Given the description of an element on the screen output the (x, y) to click on. 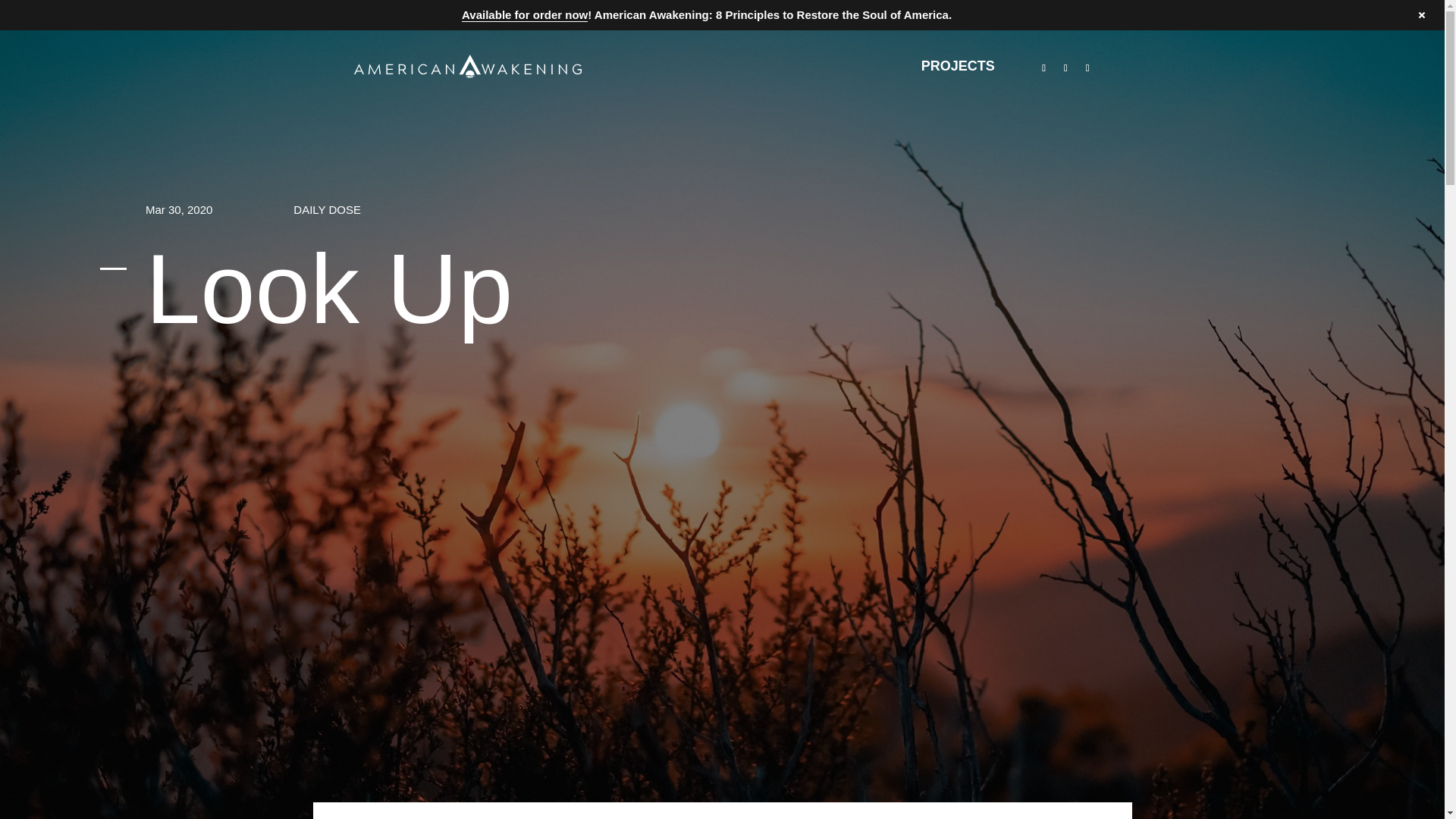
Available for order now (524, 15)
DAILY DOSE (327, 206)
PROJECTS (957, 65)
PROJECTS (722, 66)
